Given the description of an element on the screen output the (x, y) to click on. 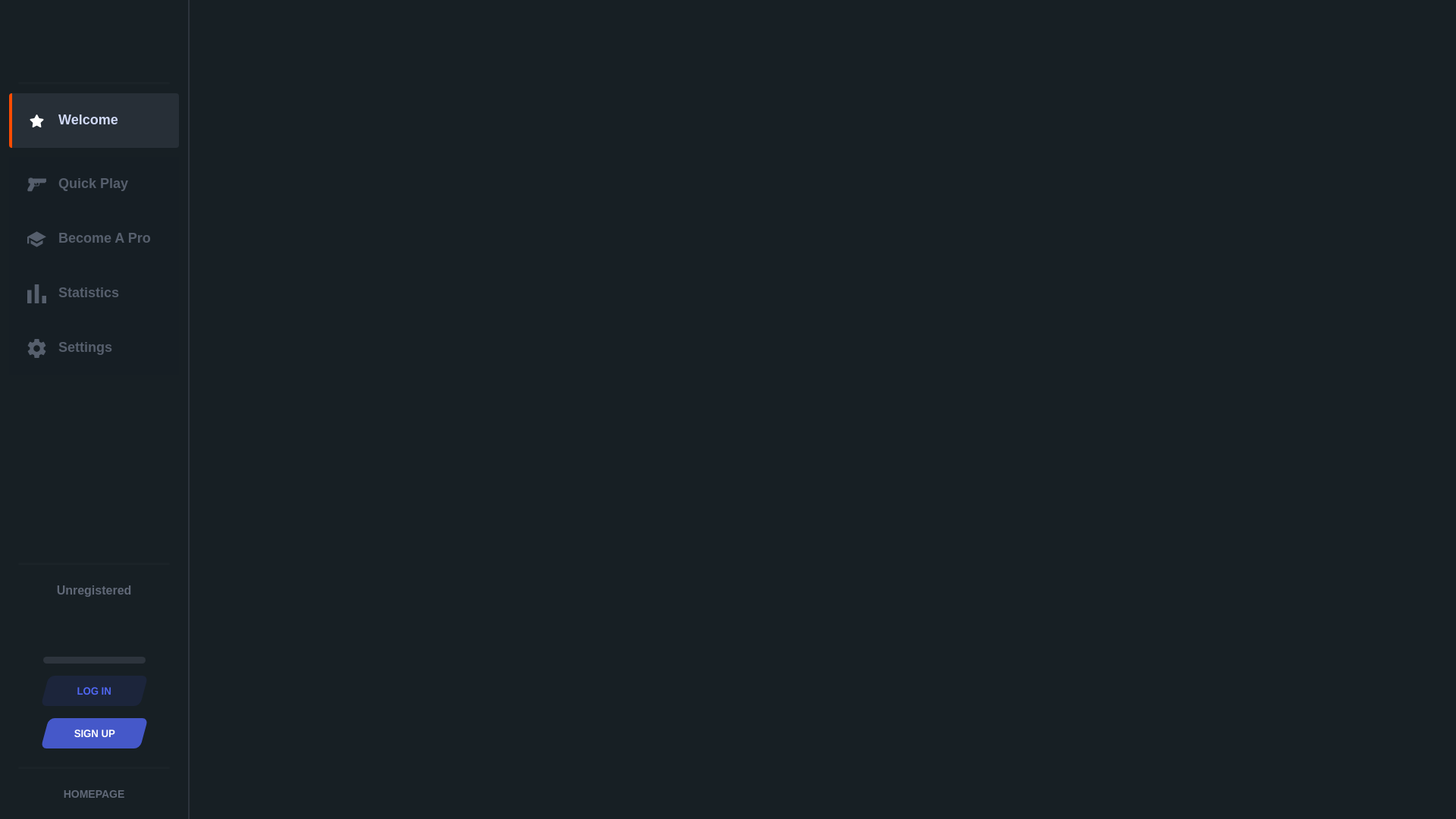
Welcome Element type: text (93, 120)
Become A Pro Element type: text (93, 238)
Statistics Element type: text (93, 293)
LOG IN Element type: text (91, 690)
Settings Element type: text (93, 347)
SIGN UP Element type: text (91, 733)
Quick Play Element type: text (93, 183)
HOMEPAGE Element type: text (94, 793)
